Given the description of an element on the screen output the (x, y) to click on. 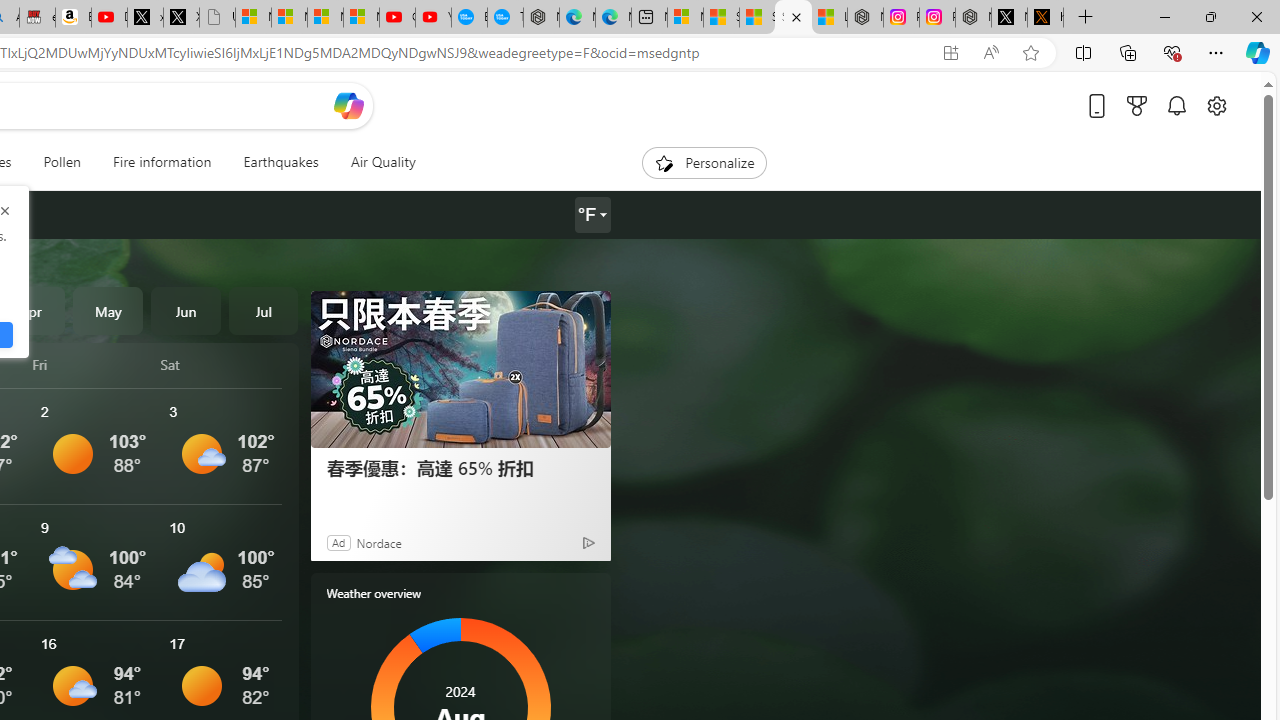
Fri (93, 363)
Pollen (61, 162)
Sat (221, 363)
Air Quality (382, 162)
Fire information (162, 162)
Day 1: Arriving in Yemen (surreal to be here) - YouTube (109, 17)
Nordace - Nordace has arrived Hong Kong (541, 17)
May (107, 310)
Pollen (61, 162)
